Given the description of an element on the screen output the (x, y) to click on. 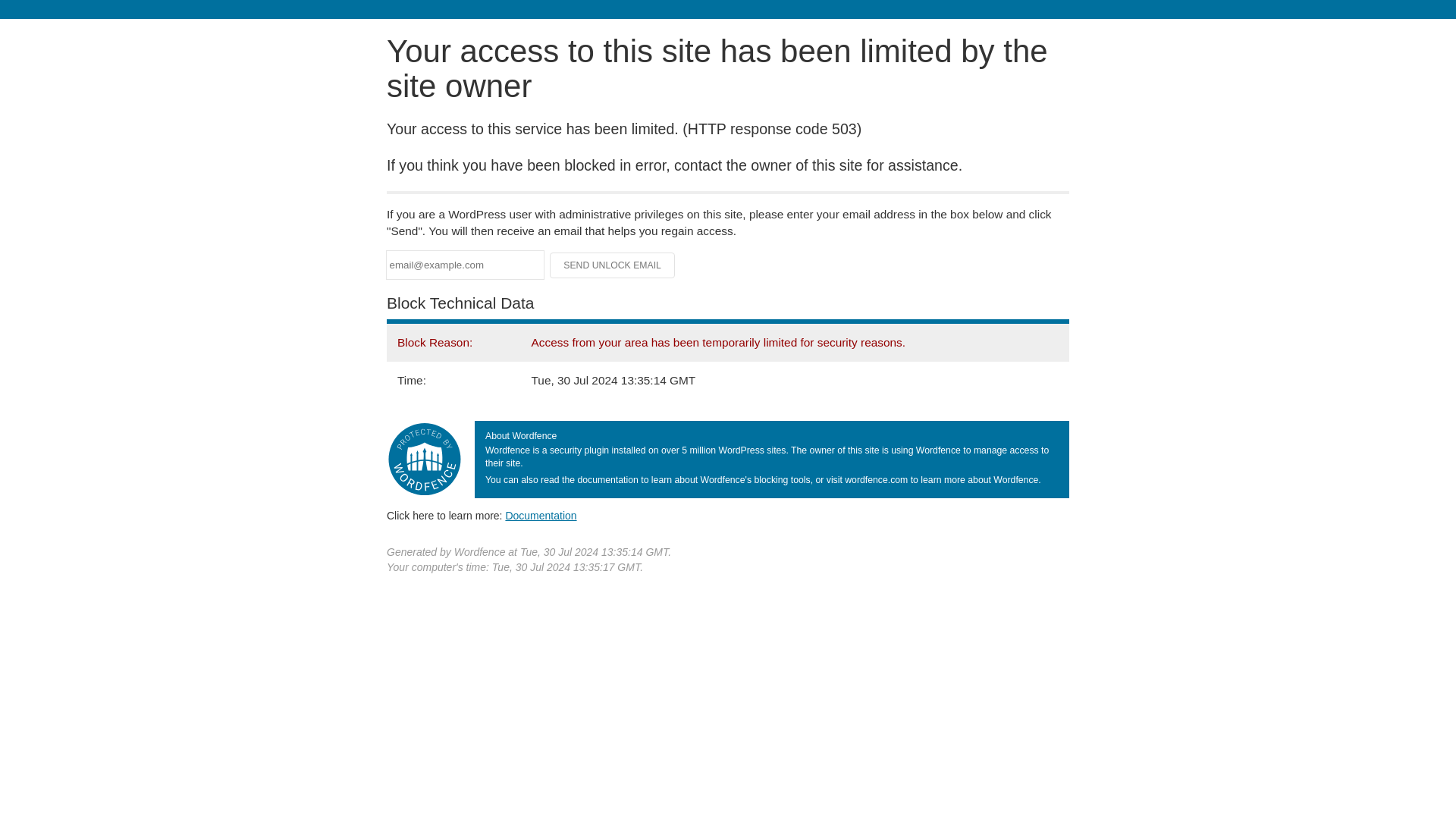
Send Unlock Email (612, 265)
Documentation (540, 515)
Send Unlock Email (612, 265)
